Given the description of an element on the screen output the (x, y) to click on. 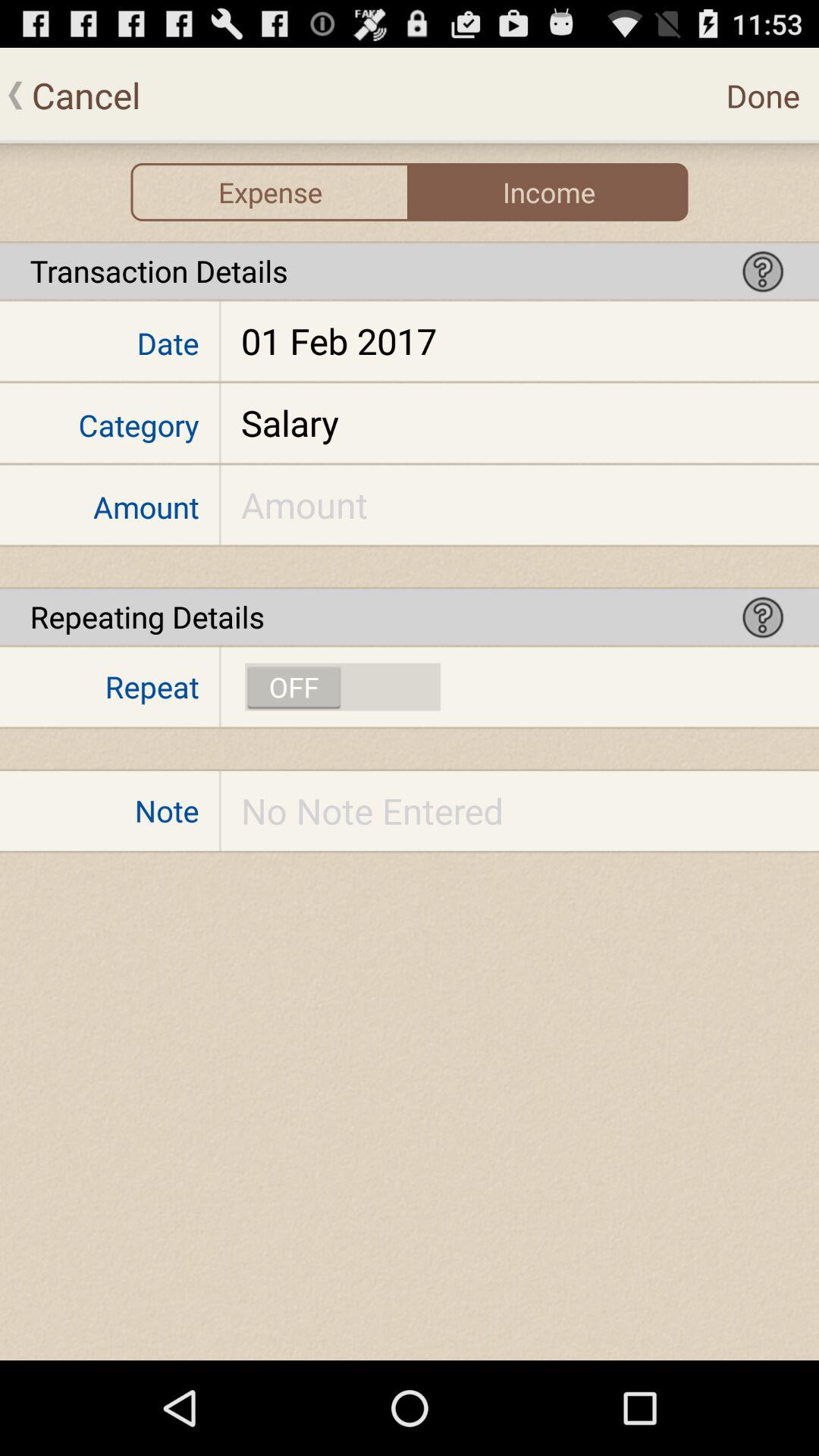
toggle repeat transaction option (342, 686)
